Given the description of an element on the screen output the (x, y) to click on. 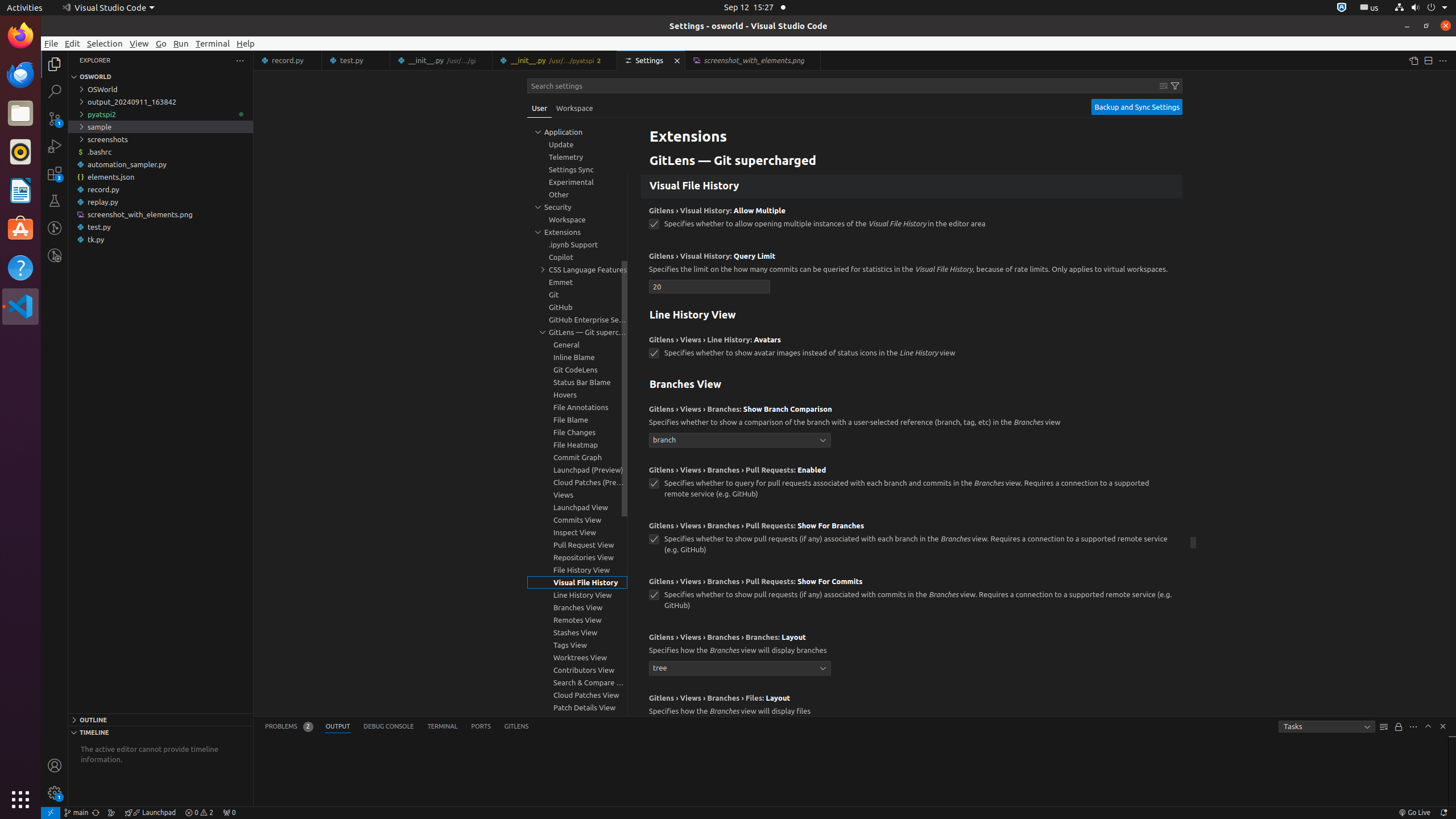
replay.py Element type: tree-item (160, 201)
Settings Sync, group Element type: tree-item (577, 169)
Gitlens › Views › Branches › Files Layout. Specifies how the Branches view will display files  Element type: tree-item (911, 715)
Split Editor Right (Ctrl+\) [Alt] Split Editor Down Element type: push-button (1427, 60)
Backup and Sync Settings Element type: push-button (1136, 106)
